Given the description of an element on the screen output the (x, y) to click on. 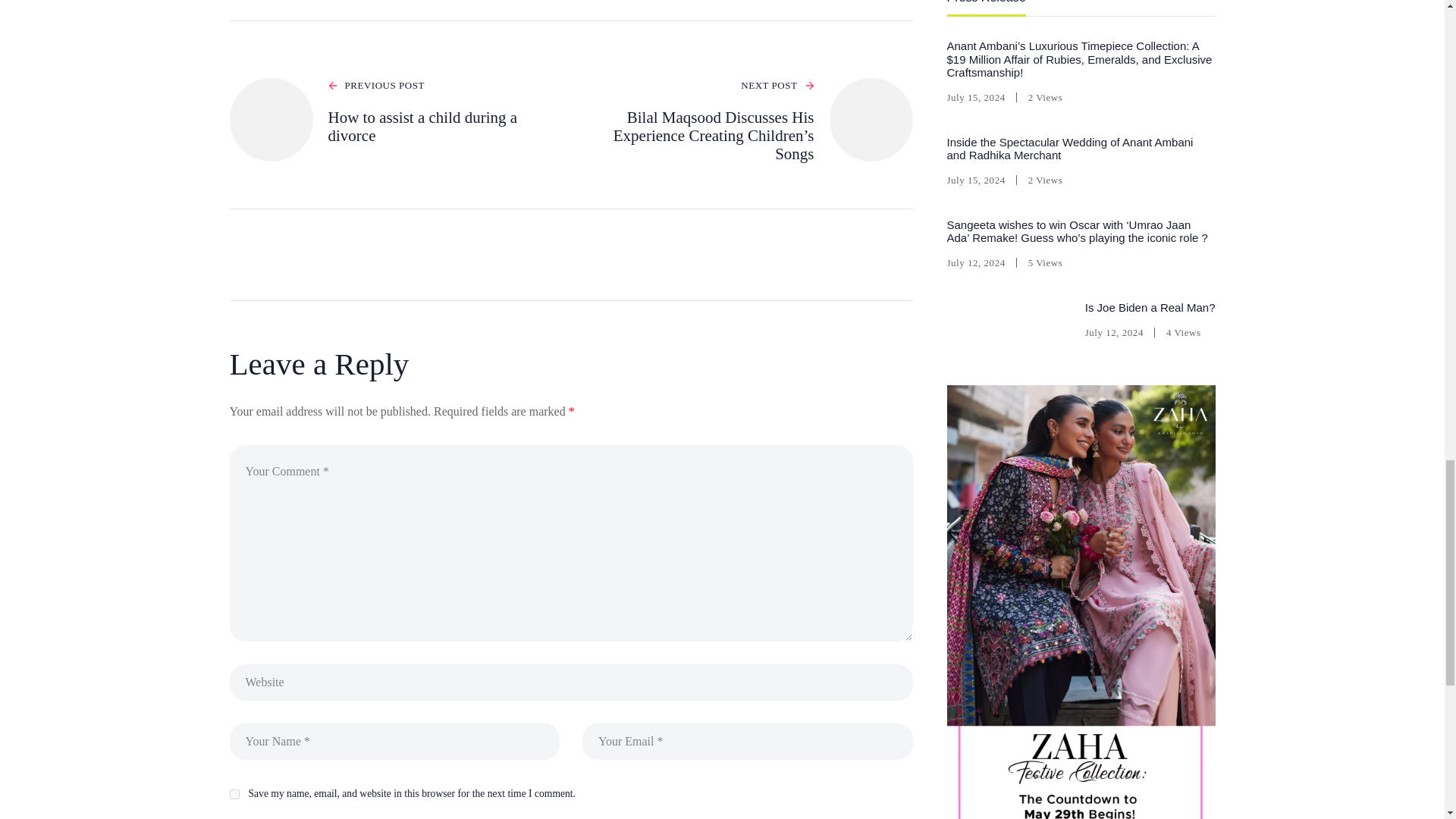
yes (233, 794)
